Given the description of an element on the screen output the (x, y) to click on. 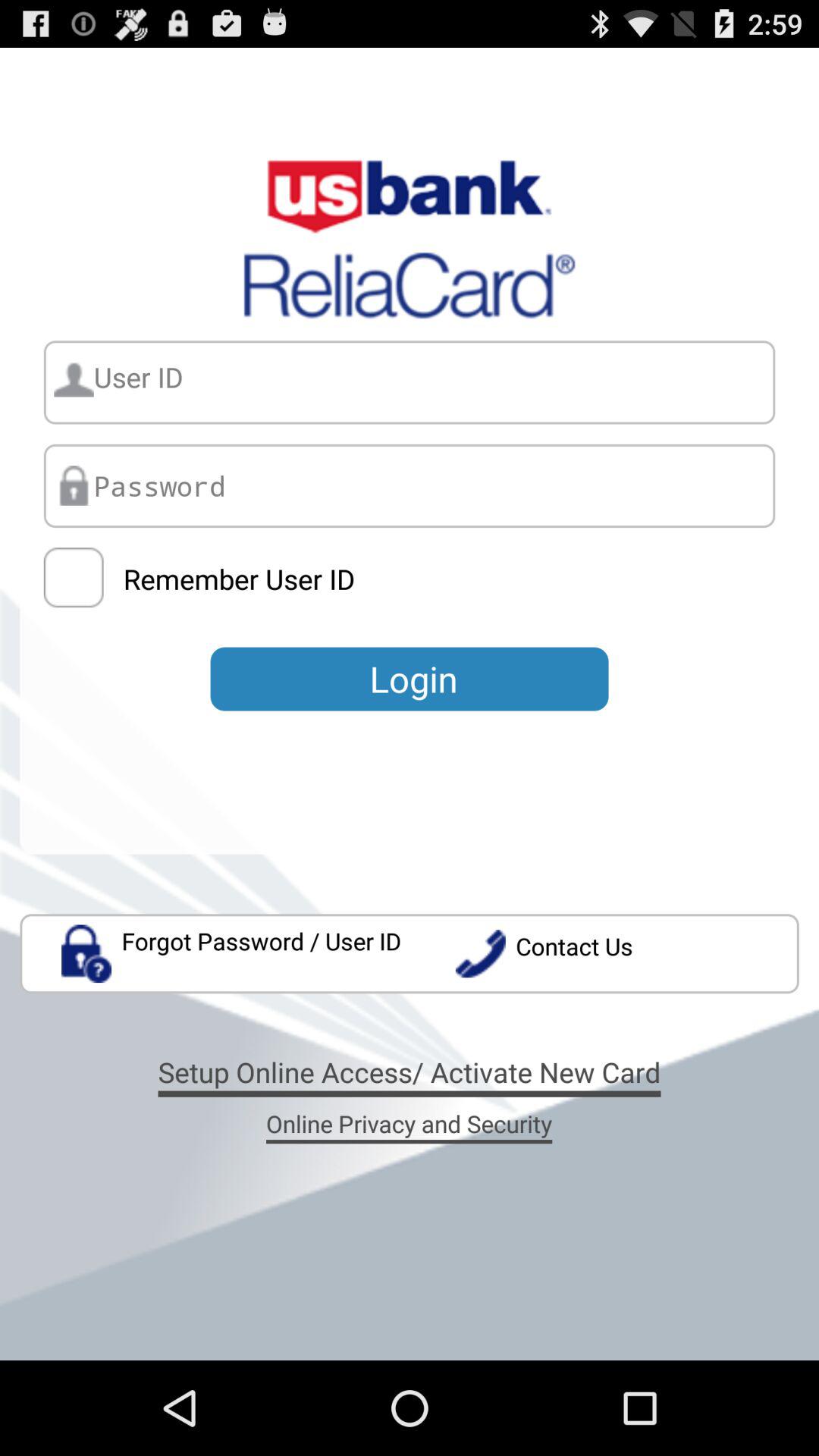
tap item to the right of forgot password user app (626, 953)
